Given the description of an element on the screen output the (x, y) to click on. 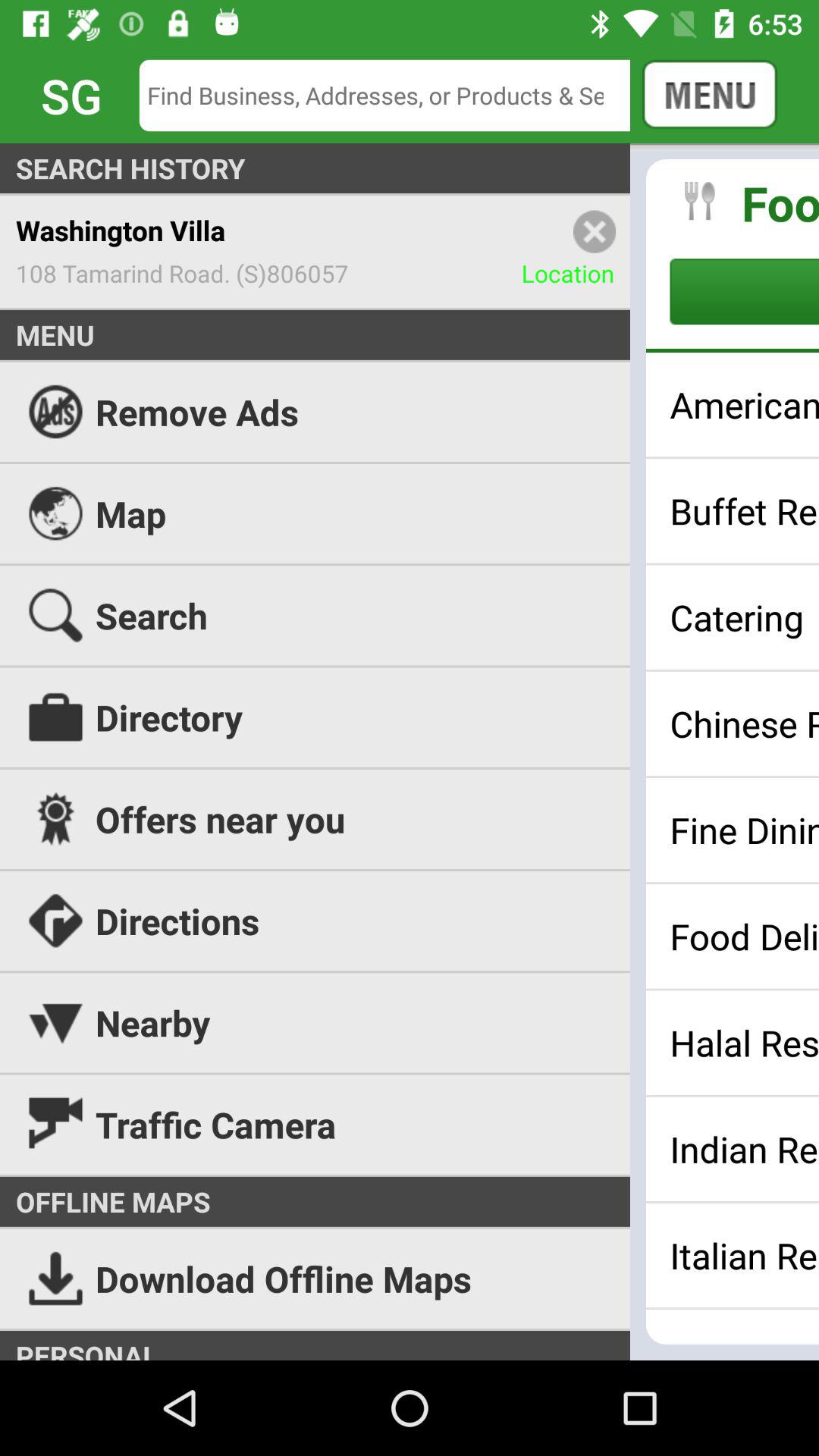
open icon above the map icon (409, 411)
